Given the description of an element on the screen output the (x, y) to click on. 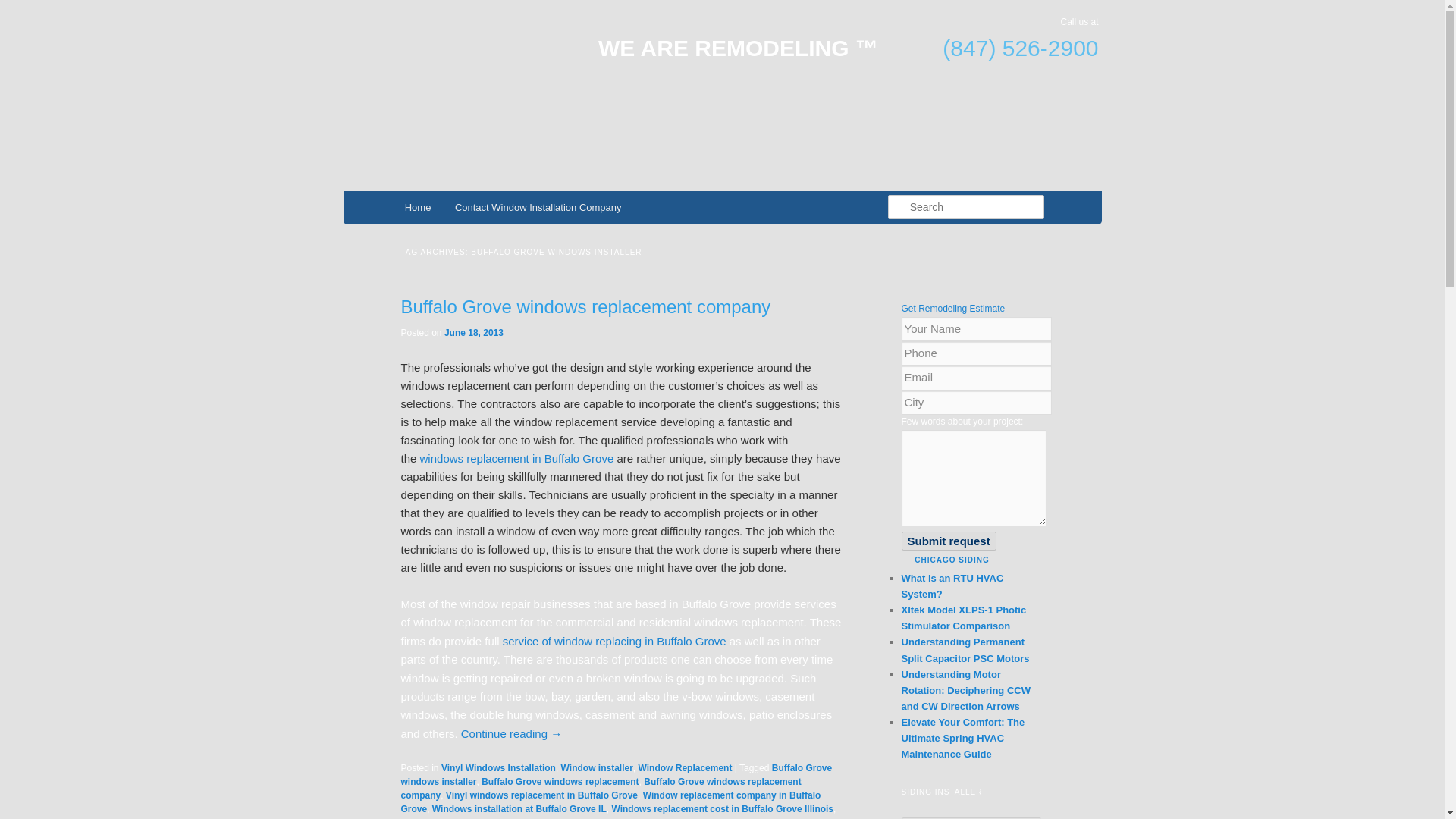
Buffalo Grove windows replacement (560, 781)
CHICAGO SIDING (951, 560)
windows replacement in Buffalo Grove  (518, 458)
Buffalo Grove windows replacement company (600, 788)
Vinyl Windows Installation (498, 767)
Get Remodeling Estimate (952, 308)
Contact Window Installation Company (537, 206)
Submit request (948, 540)
Buffalo Grove windows installer (615, 774)
Skip to secondary content (479, 209)
Window Replacement (685, 767)
Submit request (948, 540)
Home (417, 206)
